Given the description of an element on the screen output the (x, y) to click on. 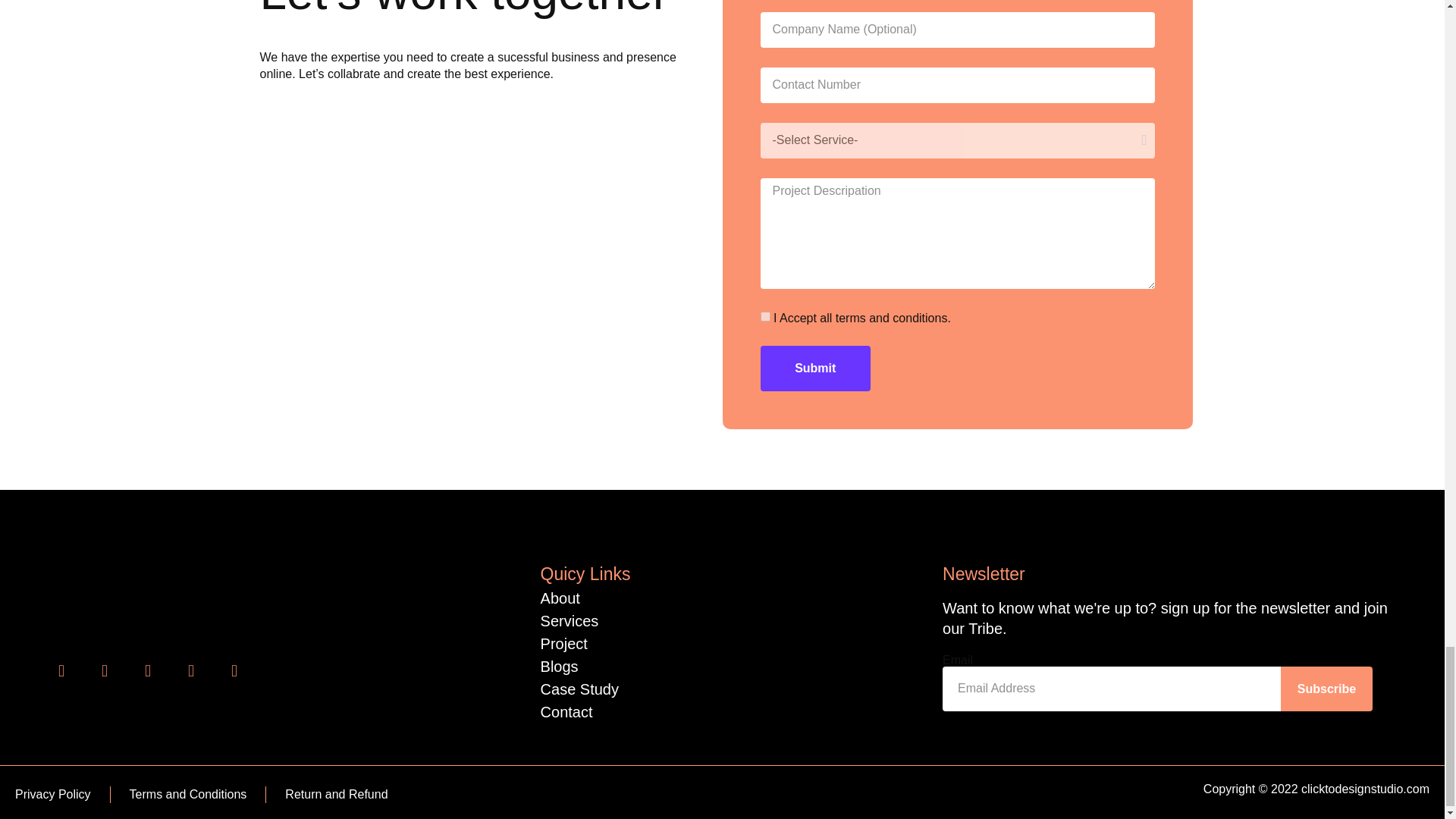
Subscribe (1326, 688)
Privacy Policy (52, 794)
Case Study (579, 688)
Return and Refund (336, 794)
Services (569, 620)
Project (564, 643)
on (765, 316)
Contact (566, 711)
Blogs (559, 666)
Terms and Conditions (188, 794)
